Given the description of an element on the screen output the (x, y) to click on. 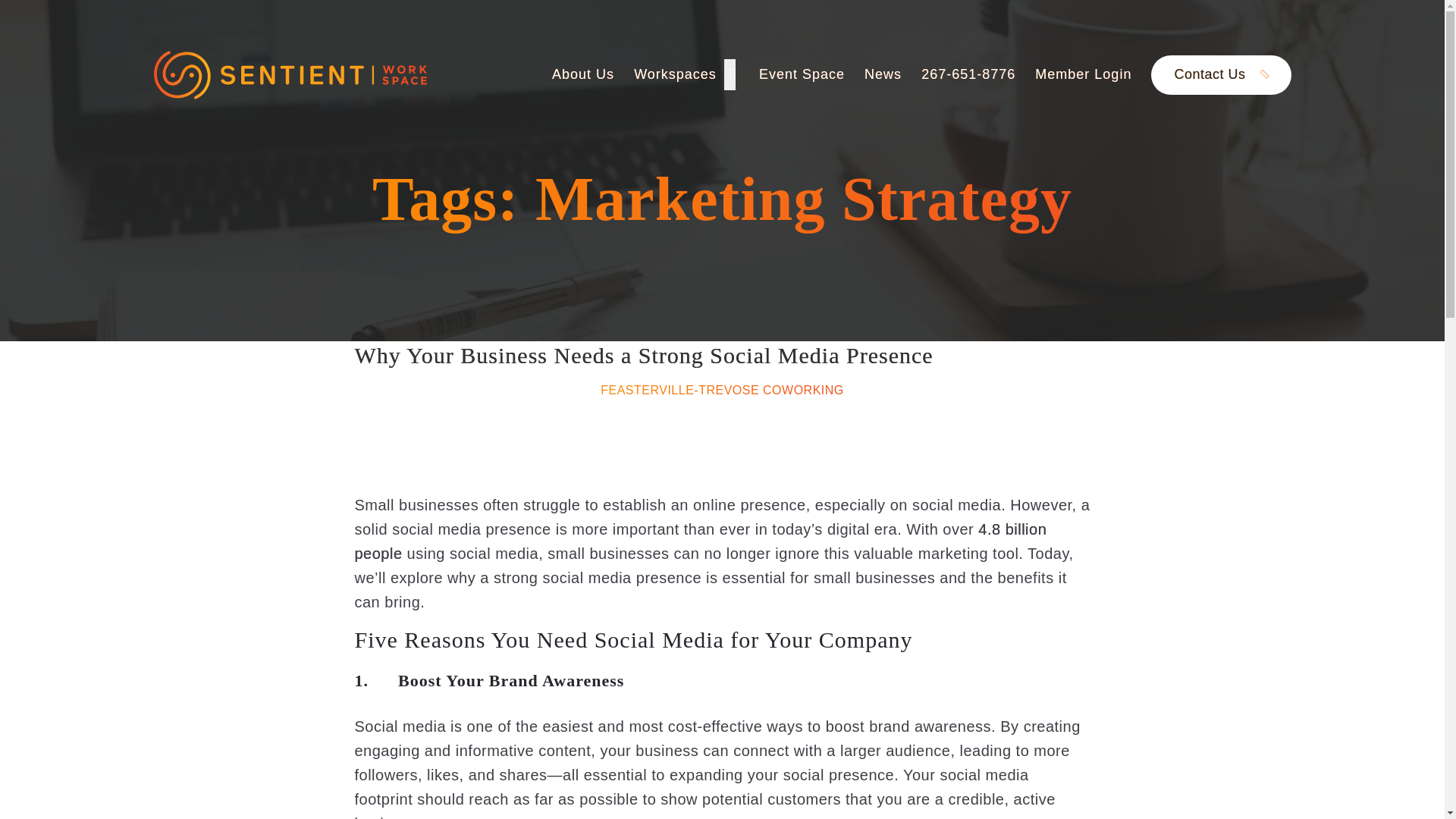
Member Login (1082, 74)
Workspaces (686, 74)
Contact Us (1220, 75)
Why Your Business Needs a Strong Social Media Presence (644, 355)
About Us (582, 74)
4.8 billion people (700, 540)
FEASTERVILLE-TREVOSE COWORKING (722, 390)
News (882, 74)
Event Space (801, 74)
267-651-8776 (968, 74)
